Given the description of an element on the screen output the (x, y) to click on. 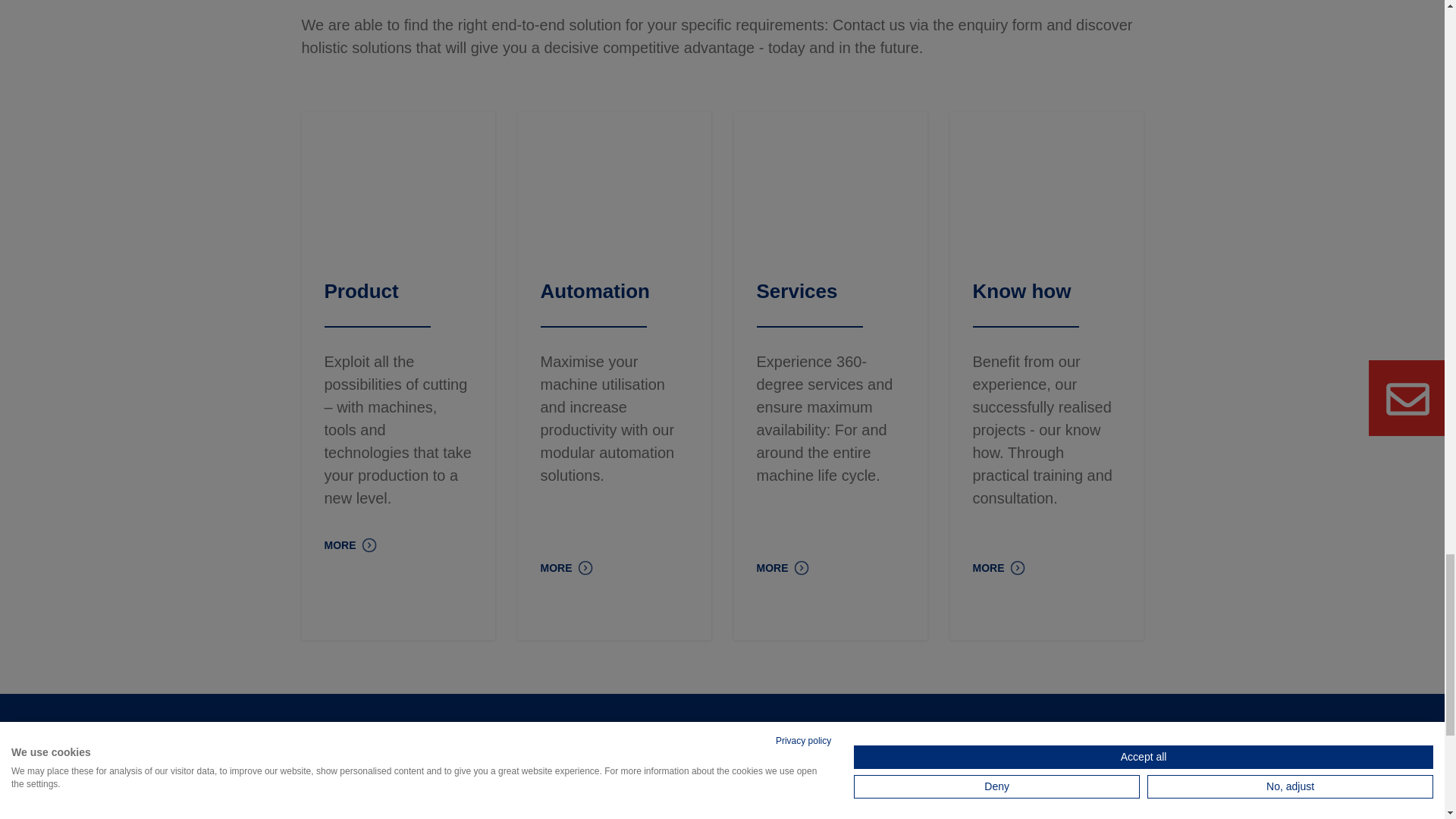
MORE   (350, 543)
Supplier Information (397, 807)
MORE   (998, 565)
MORE   (566, 565)
Product (361, 291)
Automation (594, 291)
Services (797, 291)
Know how (1021, 291)
MORE   (783, 565)
